Given the description of an element on the screen output the (x, y) to click on. 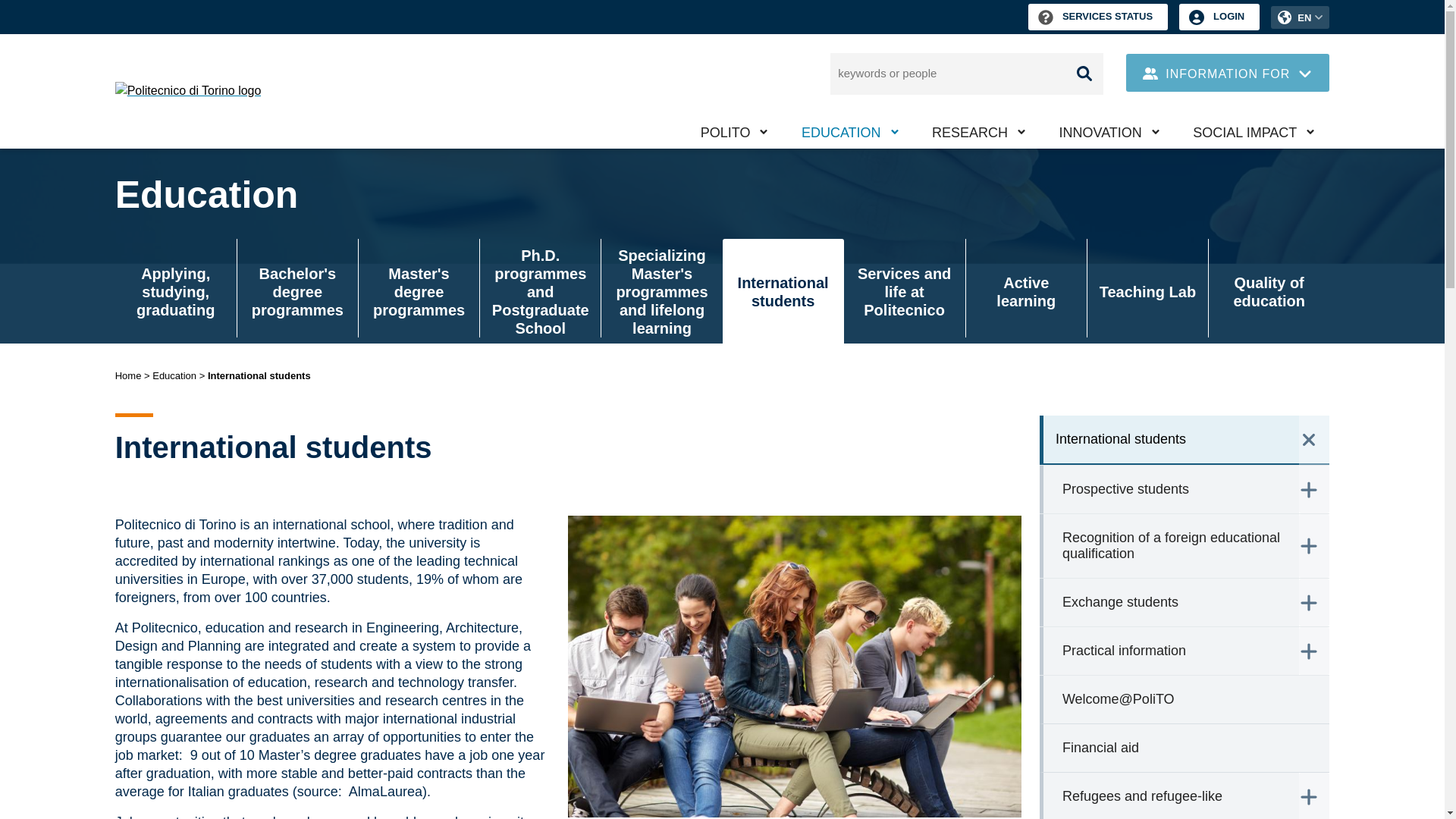
SERVICES STATUS (1097, 17)
POLITO (734, 132)
Services Status (1097, 17)
Toggle submenu (922, 150)
Search (1084, 74)
PoliTO (734, 132)
Education (850, 132)
Toggle submenu (791, 150)
